Given the description of an element on the screen output the (x, y) to click on. 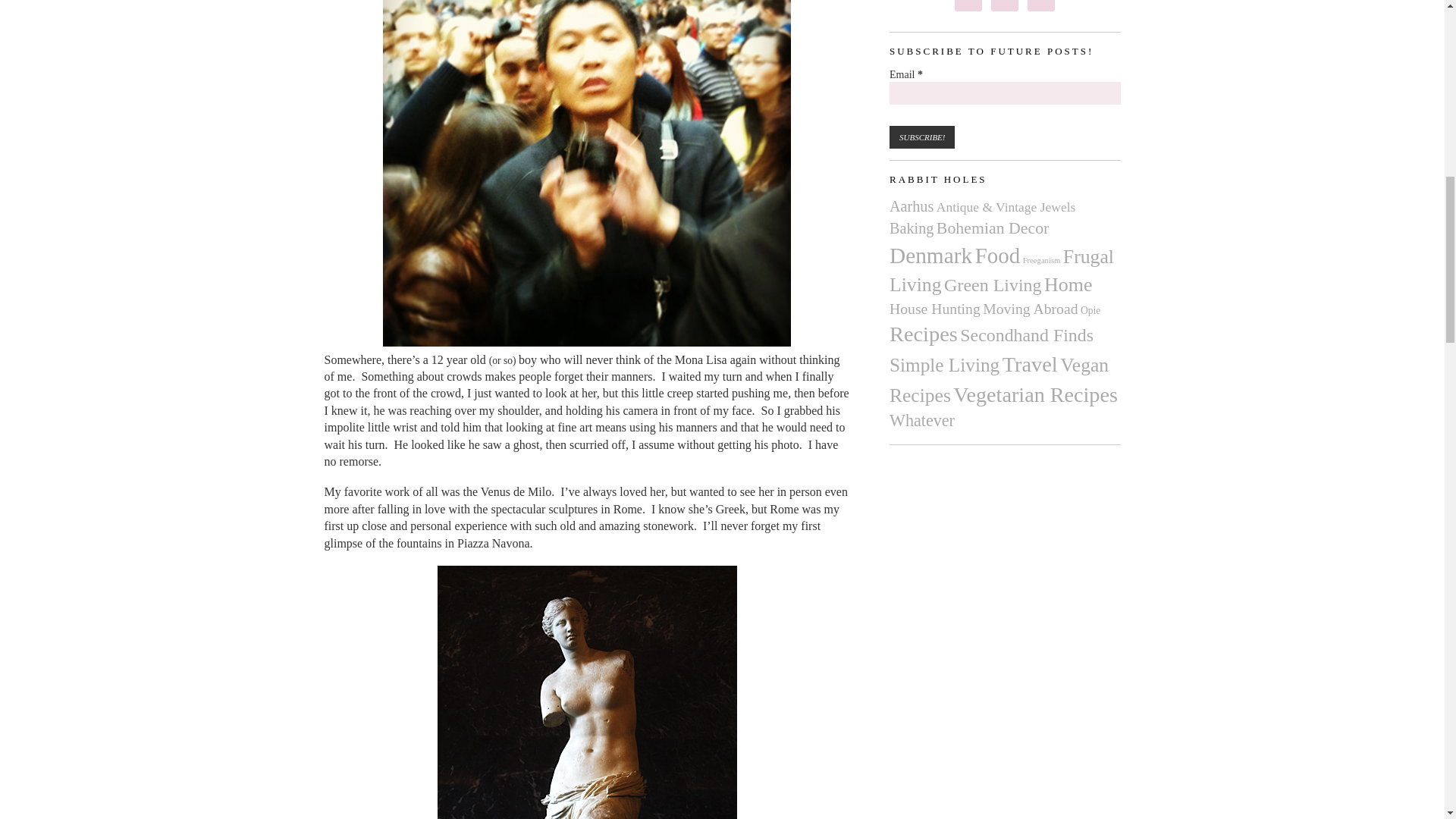
Denmark (930, 255)
Aarhus (911, 206)
Email (1005, 92)
Bohemian Decor (992, 228)
Subscribe! (922, 137)
Baking (911, 228)
Food (997, 255)
Subscribe! (922, 137)
